Given the description of an element on the screen output the (x, y) to click on. 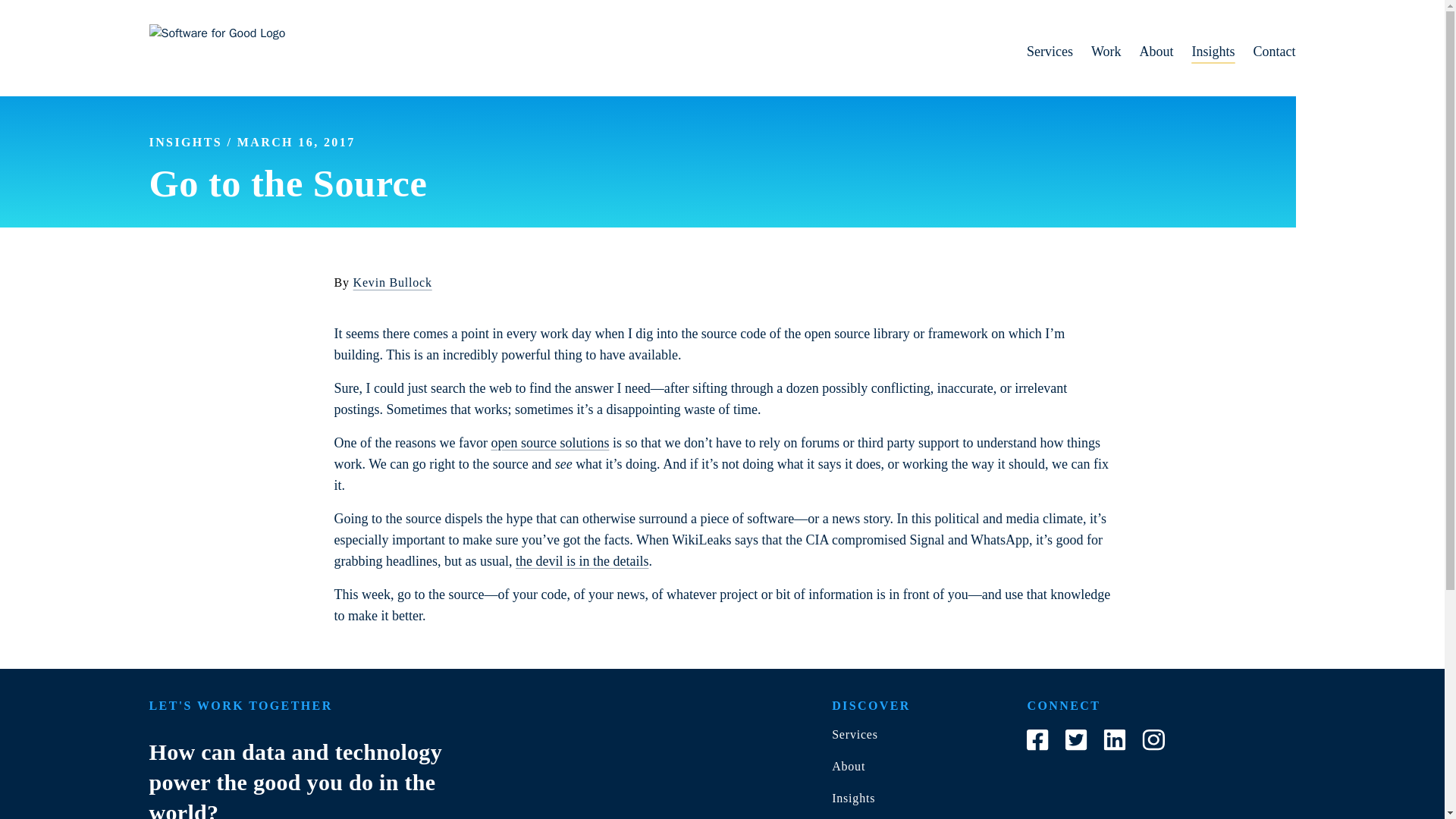
Services (1041, 51)
the devil is in the details (581, 560)
open source solutions (549, 442)
INSIGHTS (185, 141)
Contact (1264, 51)
About (1147, 51)
Insights (853, 797)
About (847, 766)
Insights (1203, 51)
Kevin Bullock (392, 282)
Services (854, 734)
Work (1097, 51)
